Given the description of an element on the screen output the (x, y) to click on. 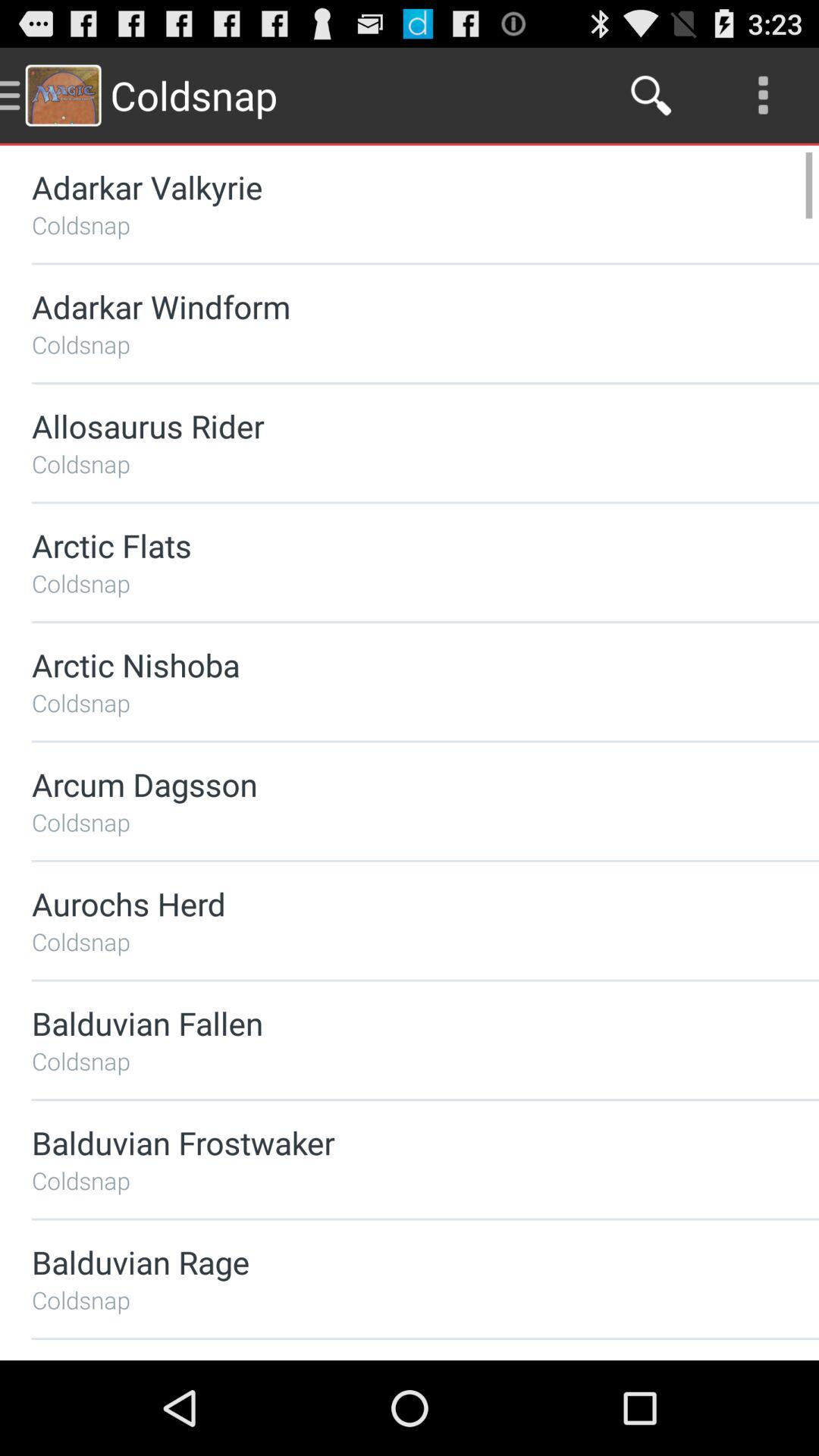
press arctic flats icon (385, 545)
